Given the description of an element on the screen output the (x, y) to click on. 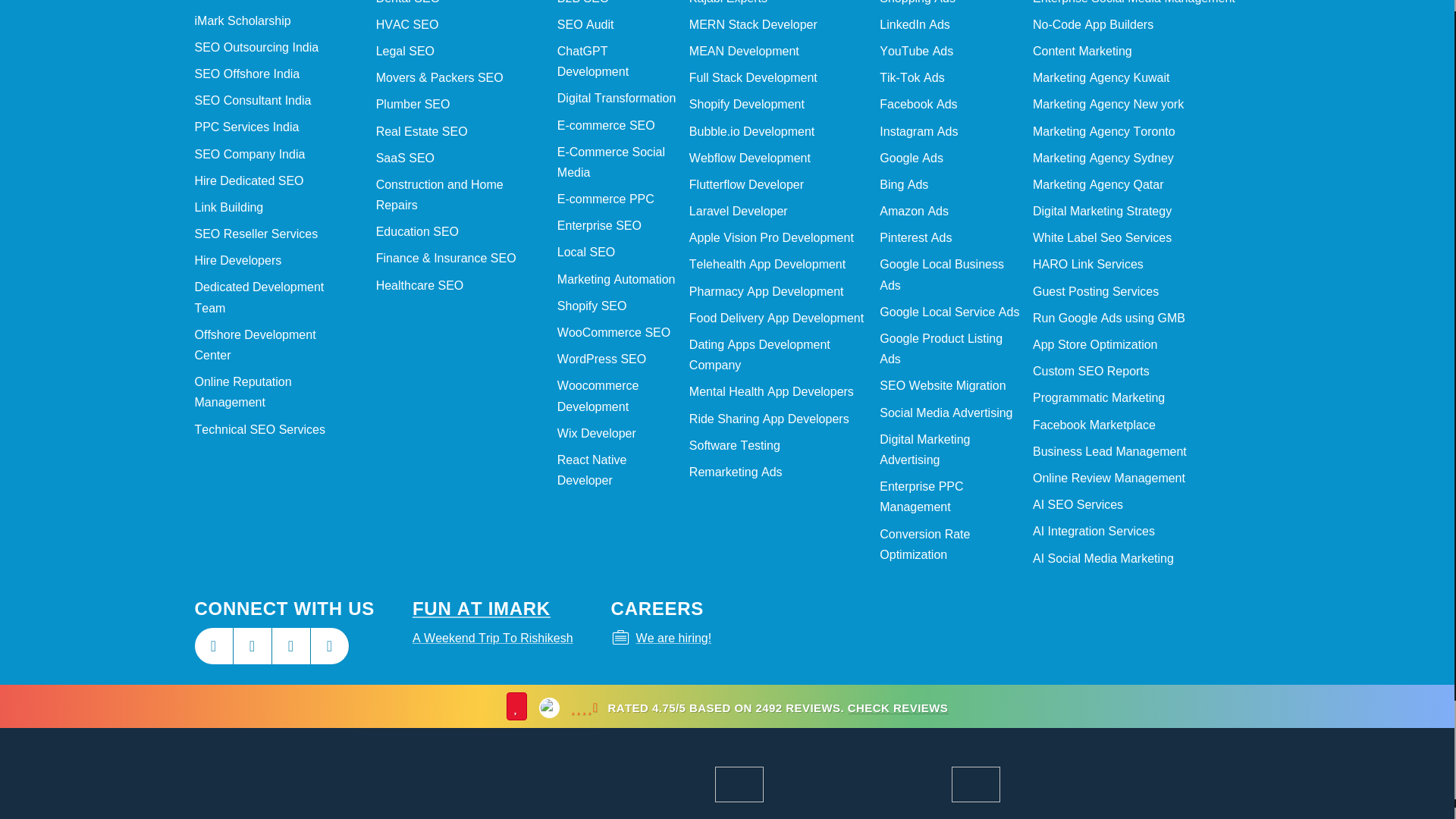
AWS (518, 784)
Top Design Firms (675, 784)
Paypal (477, 784)
top seos (802, 784)
10seos (636, 784)
Top Developers (596, 784)
Design Rush (557, 784)
gPartners (438, 784)
